Given the description of an element on the screen output the (x, y) to click on. 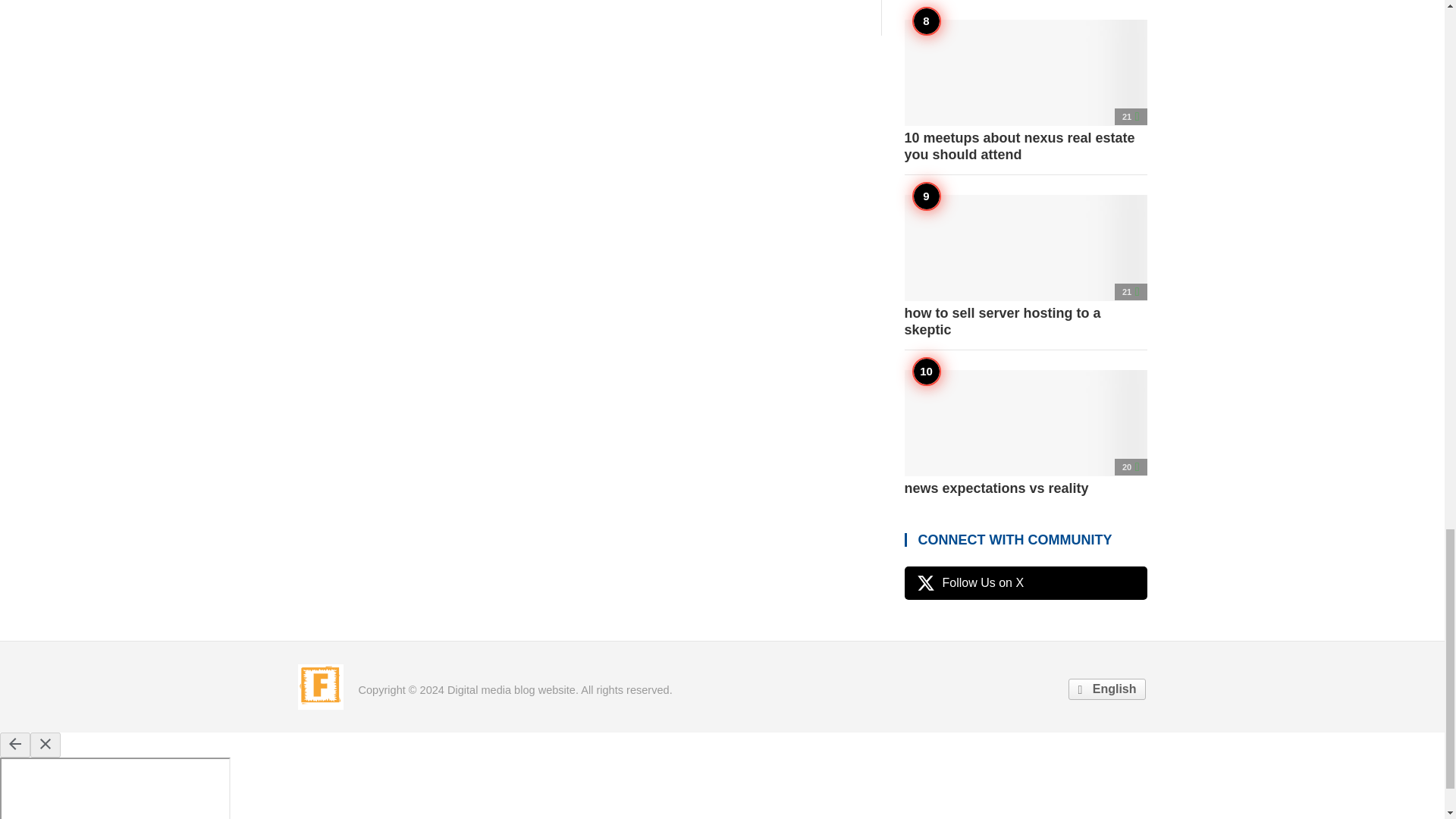
10 meetups about nexus real estate you should attend (1025, 91)
news expectations vs reality (1025, 433)
how to sell server hosting to a skeptic (1025, 266)
